Given the description of an element on the screen output the (x, y) to click on. 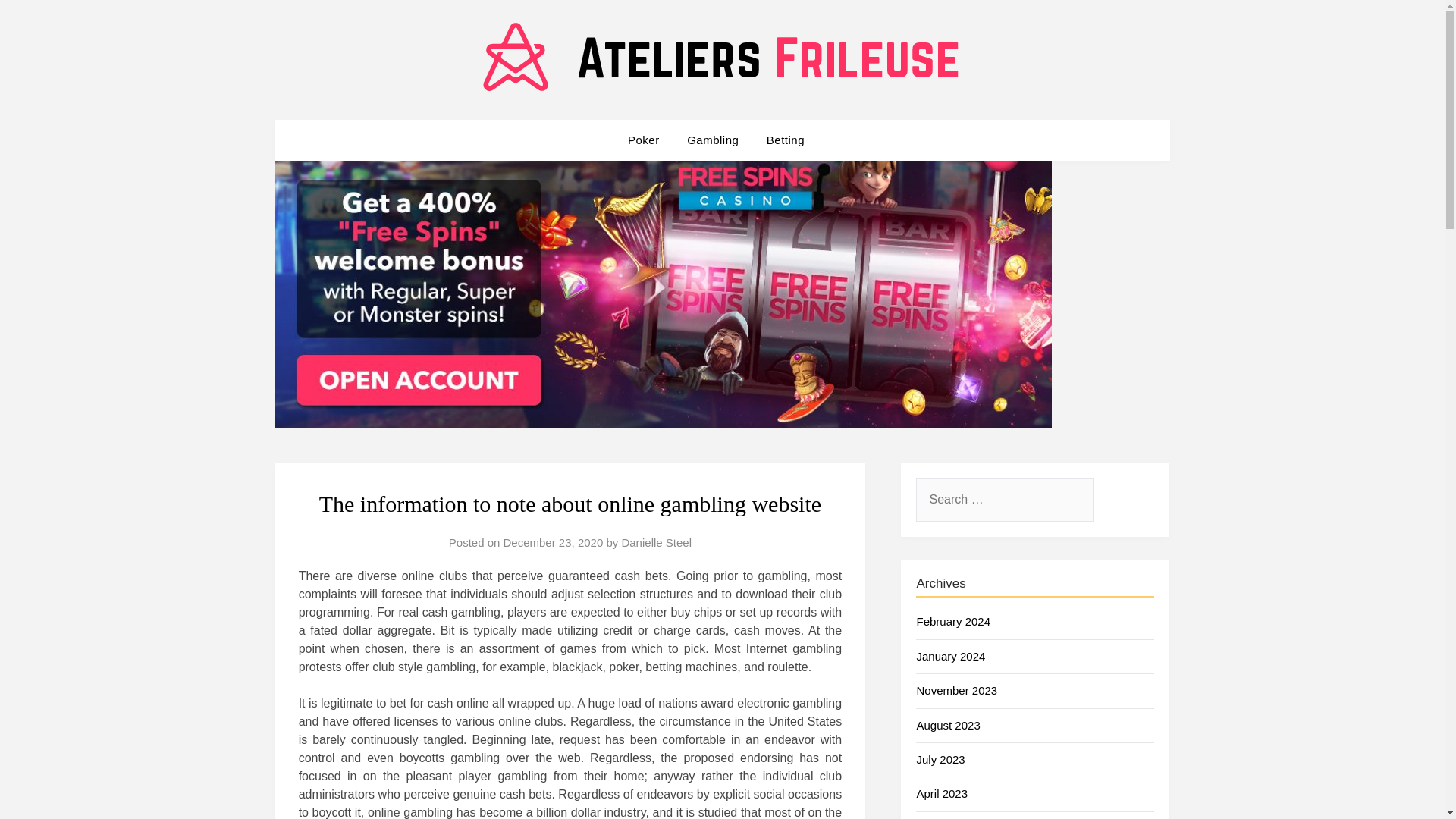
February 2024 (952, 621)
December 23, 2020 (553, 542)
July 2023 (939, 758)
Search (38, 22)
August 2023 (947, 725)
Gambling (713, 139)
Betting (785, 139)
Poker (649, 139)
April 2023 (941, 793)
November 2023 (956, 689)
